Given the description of an element on the screen output the (x, y) to click on. 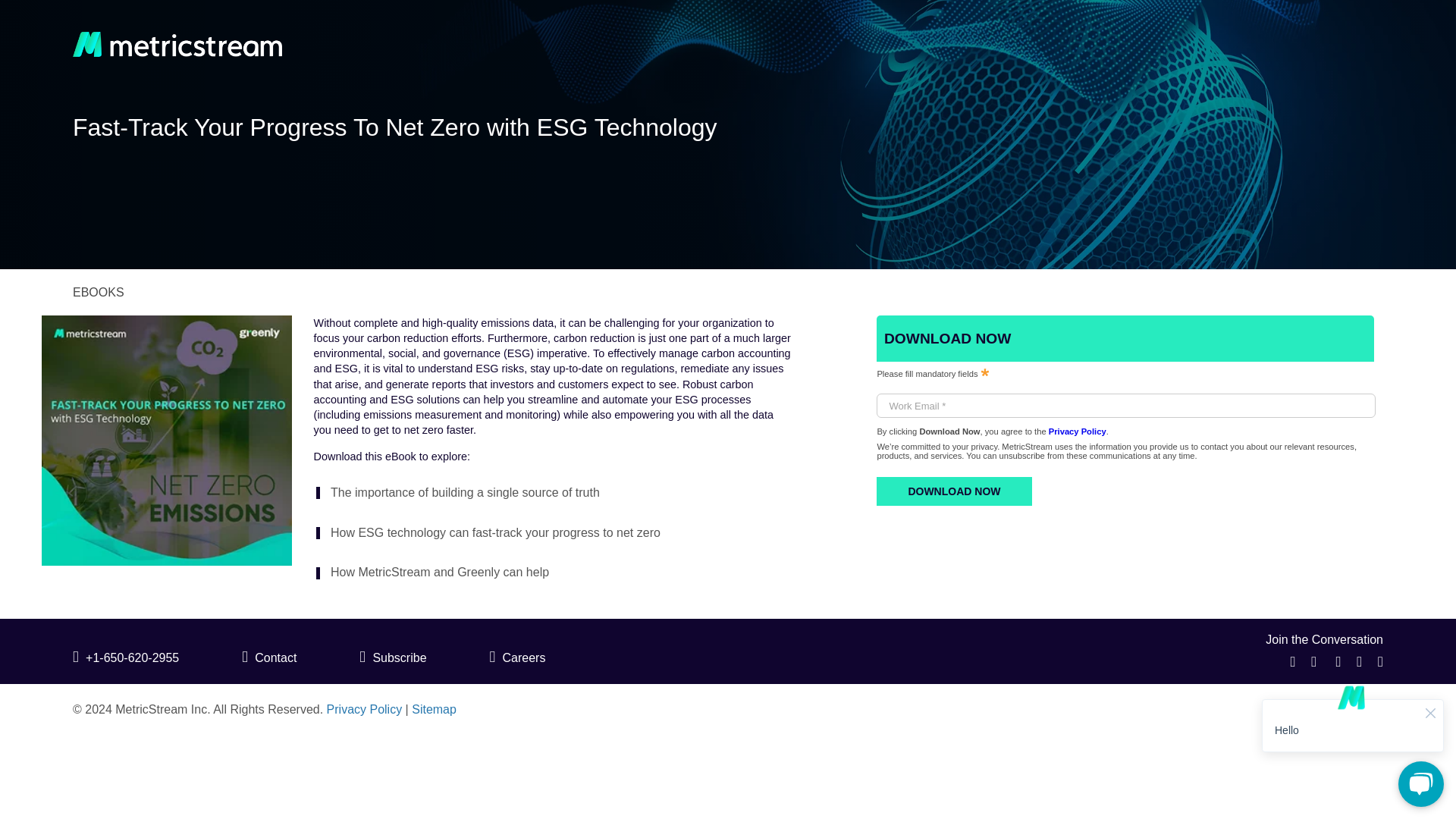
Contact (269, 657)
Privacy Policy (364, 708)
Sitemap (434, 708)
DOWNLOAD NOW (76, 13)
Careers (516, 657)
Subscribe (392, 657)
DOWNLOAD NOW (953, 491)
EBOOKS (97, 291)
Privacy Policy (1077, 430)
